Given the description of an element on the screen output the (x, y) to click on. 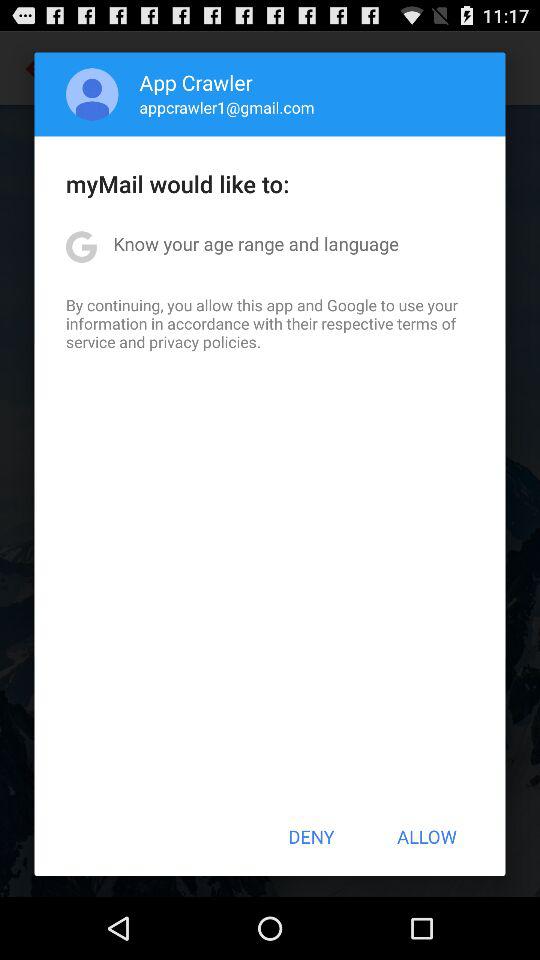
launch app above appcrawler1@gmail.com (195, 82)
